Given the description of an element on the screen output the (x, y) to click on. 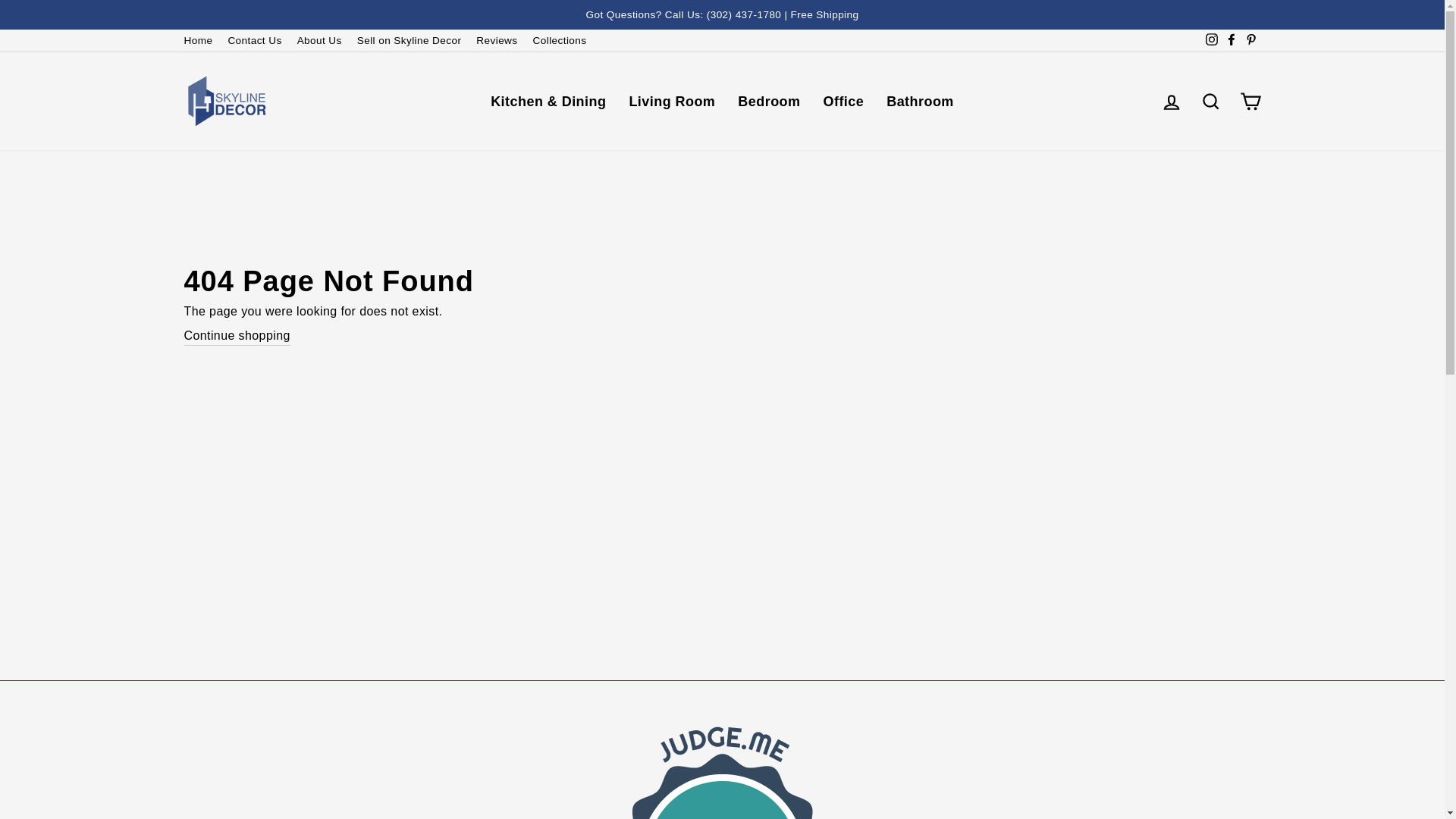
SKYLINE DECOR on Pinterest (1250, 40)
Reviews (496, 40)
SKYLINE DECOR on Facebook (1230, 40)
SKYLINE DECOR on Instagram (1211, 40)
Contact Us (253, 40)
Sell on Skyline Decor (408, 40)
Instagram (1211, 40)
Collections (559, 40)
About Us (319, 40)
Facebook (1230, 40)
Home (197, 40)
